Given the description of an element on the screen output the (x, y) to click on. 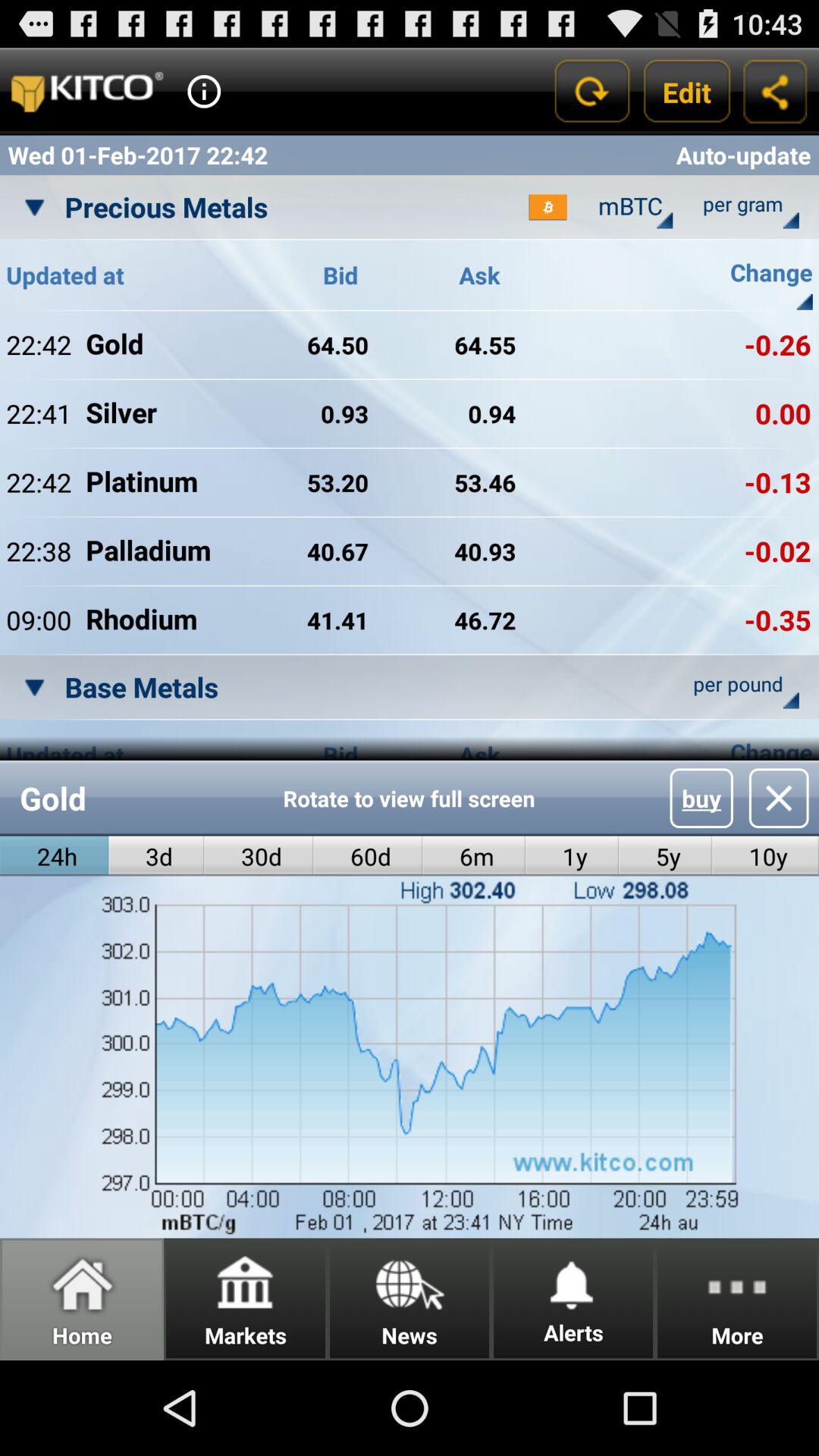
select item to the left of 6m (367, 856)
